Given the description of an element on the screen output the (x, y) to click on. 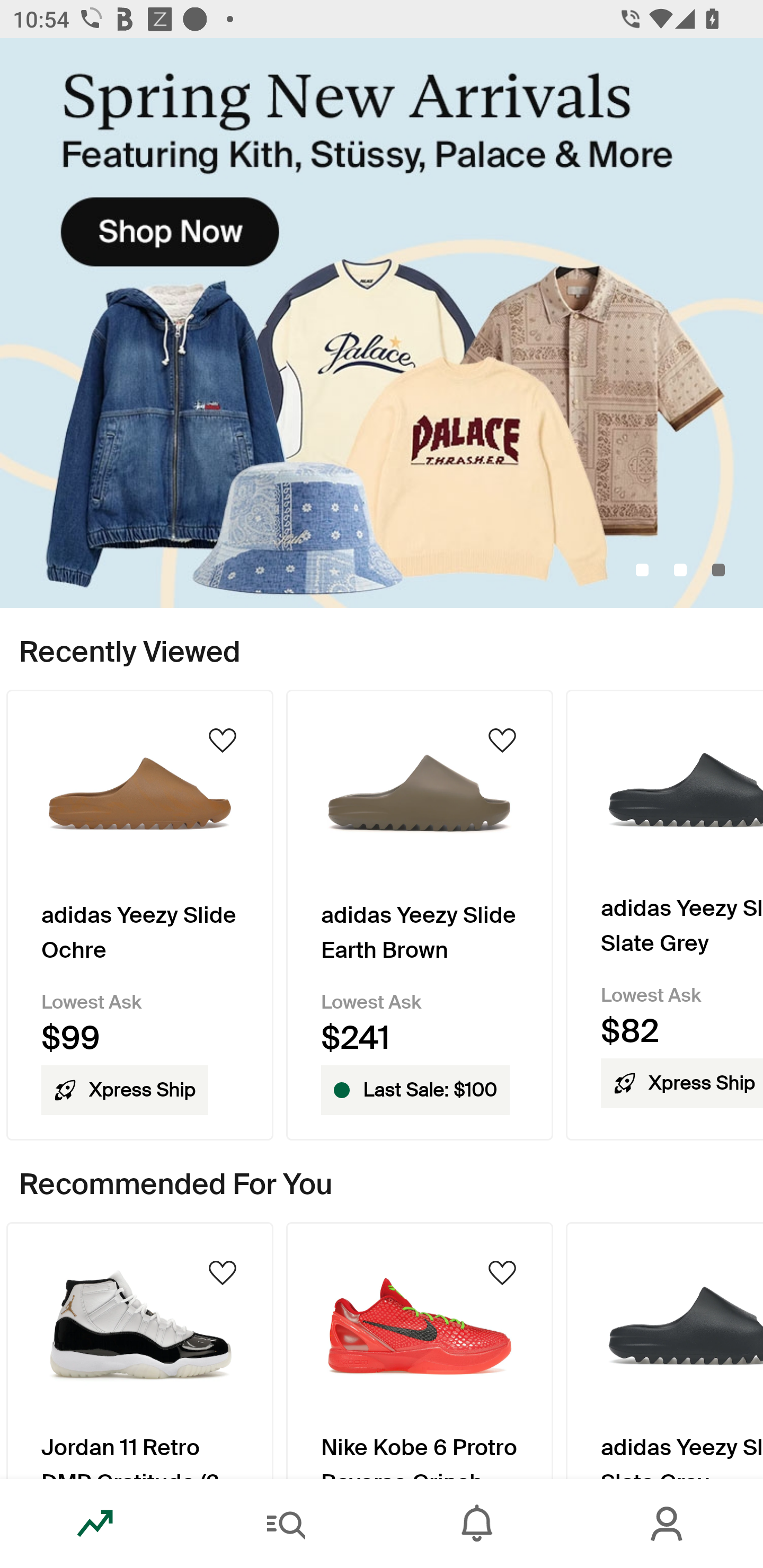
SpringNewArrivals-KithStussy_Primary_Mobile.jpg (381, 322)
Product Image Jordan 11 Retro DMP Gratitude (2023) (139, 1349)
Product Image Nike Kobe 6 Protro Reverse Grinch (419, 1349)
Product Image adidas Yeezy Slide Slate Grey (664, 1349)
Search (285, 1523)
Inbox (476, 1523)
Account (667, 1523)
